Given the description of an element on the screen output the (x, y) to click on. 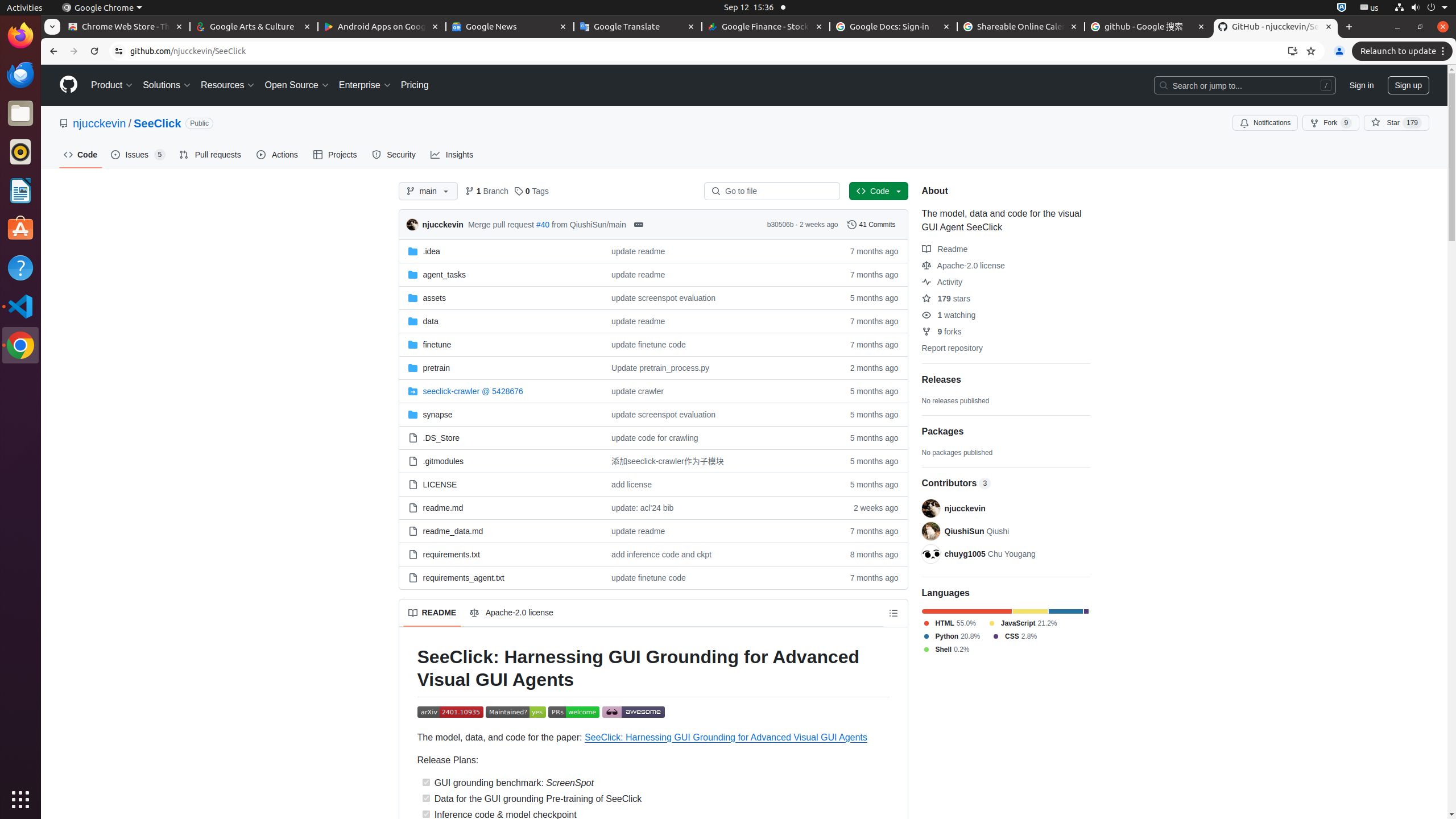
Activity Element type: link (941, 281)
Google Docs: Sign-in - Memory usage - 31.9 MB Element type: page-tab (893, 26)
 Apache-2.0 license Element type: link (962, 265)
Report repository Element type: link (951, 347)
update readme Element type: table-cell (716, 530)
